Given the description of an element on the screen output the (x, y) to click on. 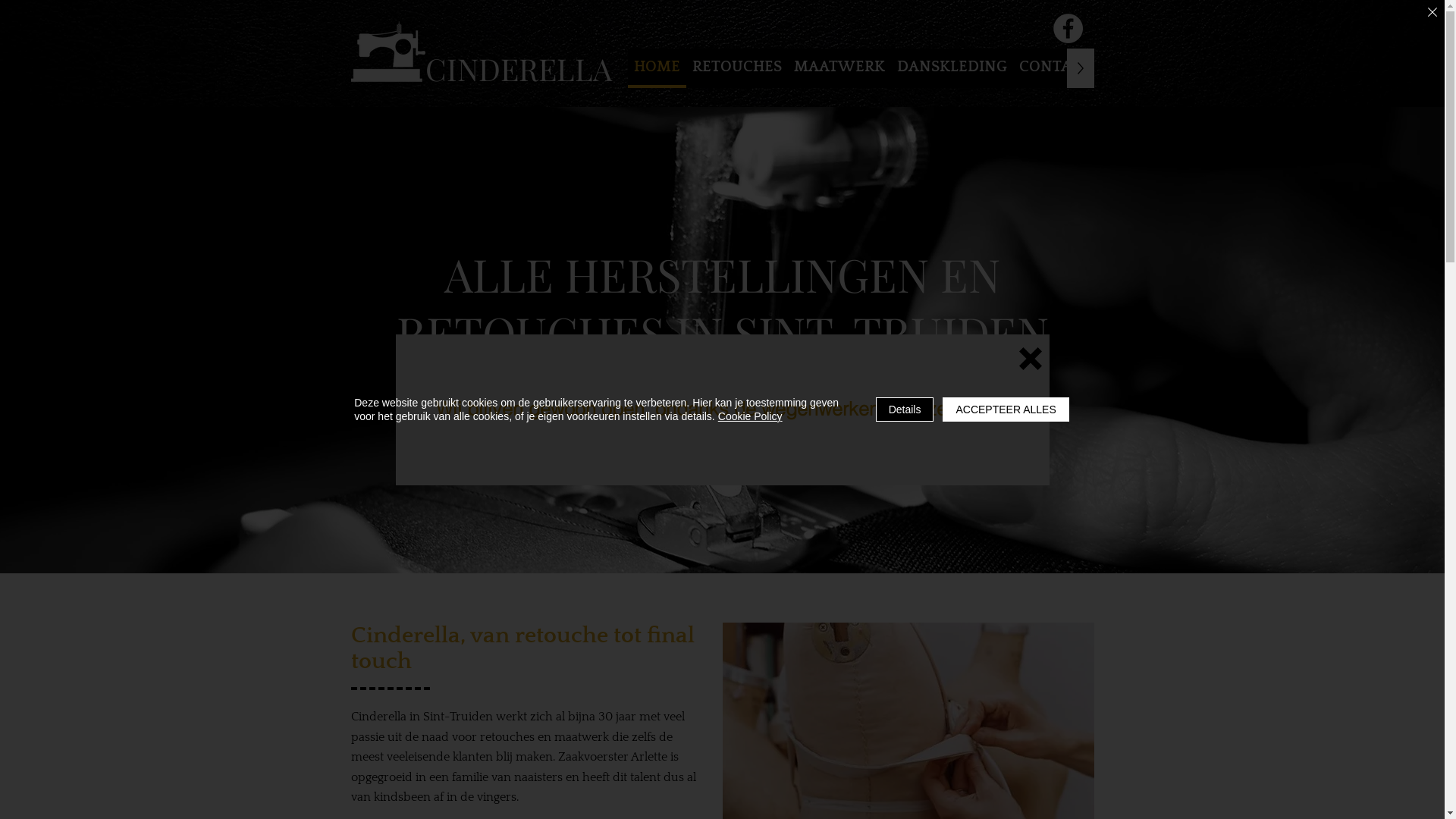
MAATWERK Element type: text (838, 67)
Terug naar de website Element type: hover (1030, 358)
RETOUCHES Element type: text (736, 67)
ACCEPTEER ALLES Element type: text (1005, 409)
Details Element type: text (904, 409)
Cookie Policy Element type: text (750, 416)
HOME Element type: text (656, 67)
CONTACT Element type: text (1054, 67)
DANSKLEDING Element type: text (951, 67)
011 68 48 31 Element type: text (721, 398)
